Given the description of an element on the screen output the (x, y) to click on. 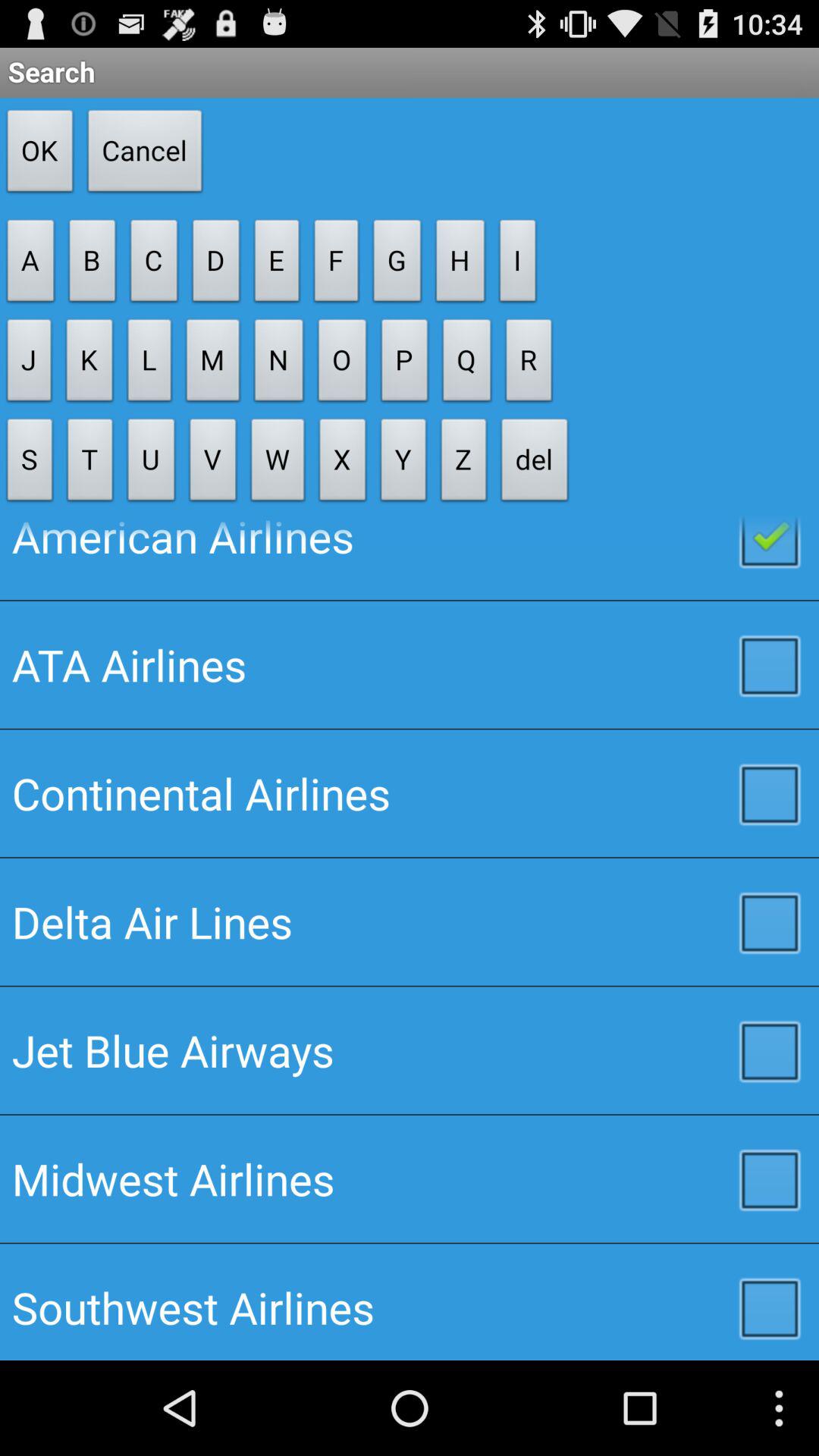
flip to the midwest airlines (409, 1178)
